Given the description of an element on the screen output the (x, y) to click on. 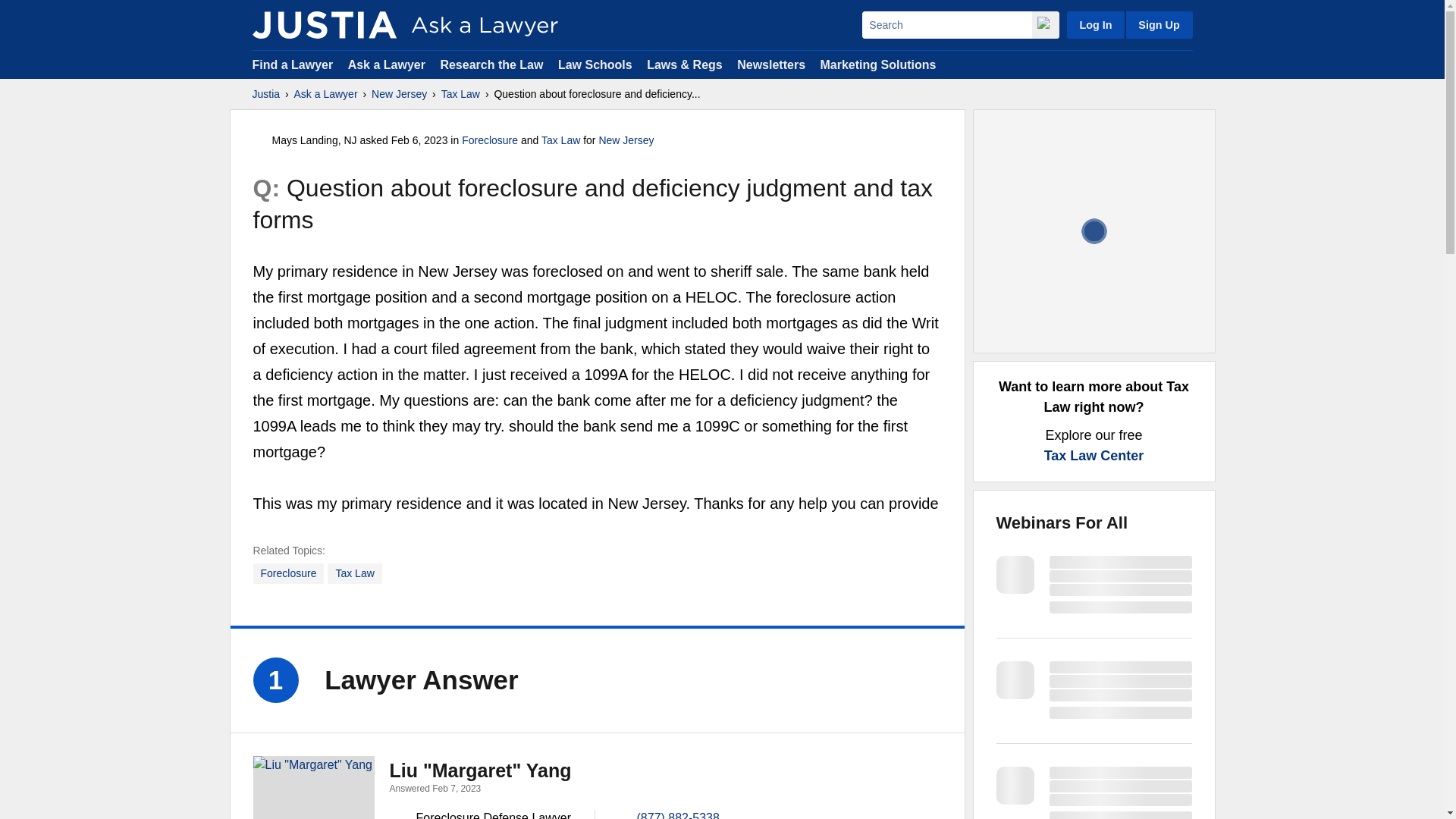
Find a Lawyer (292, 64)
Justia (265, 93)
Log In (1094, 24)
Justia (323, 24)
Ask a Lawyer (326, 93)
Foreclosure (489, 140)
Ask a Lawyer (388, 64)
Liu "Margaret" Yang (481, 770)
Newsletters (770, 64)
2023-02-06T09:42:17-08:00 (419, 140)
